Given the description of an element on the screen output the (x, y) to click on. 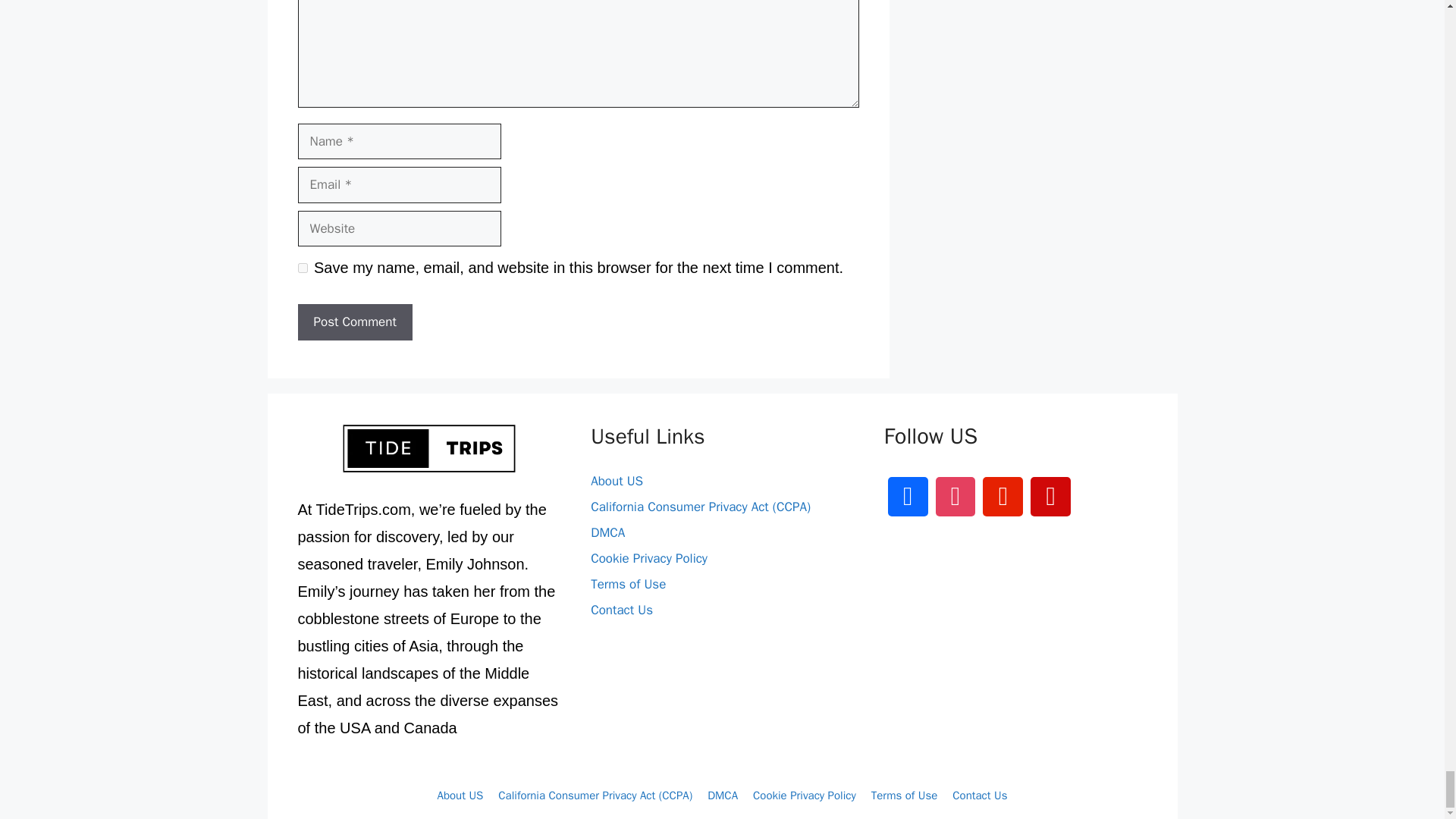
yes (302, 267)
Post Comment (354, 321)
